Given the description of an element on the screen output the (x, y) to click on. 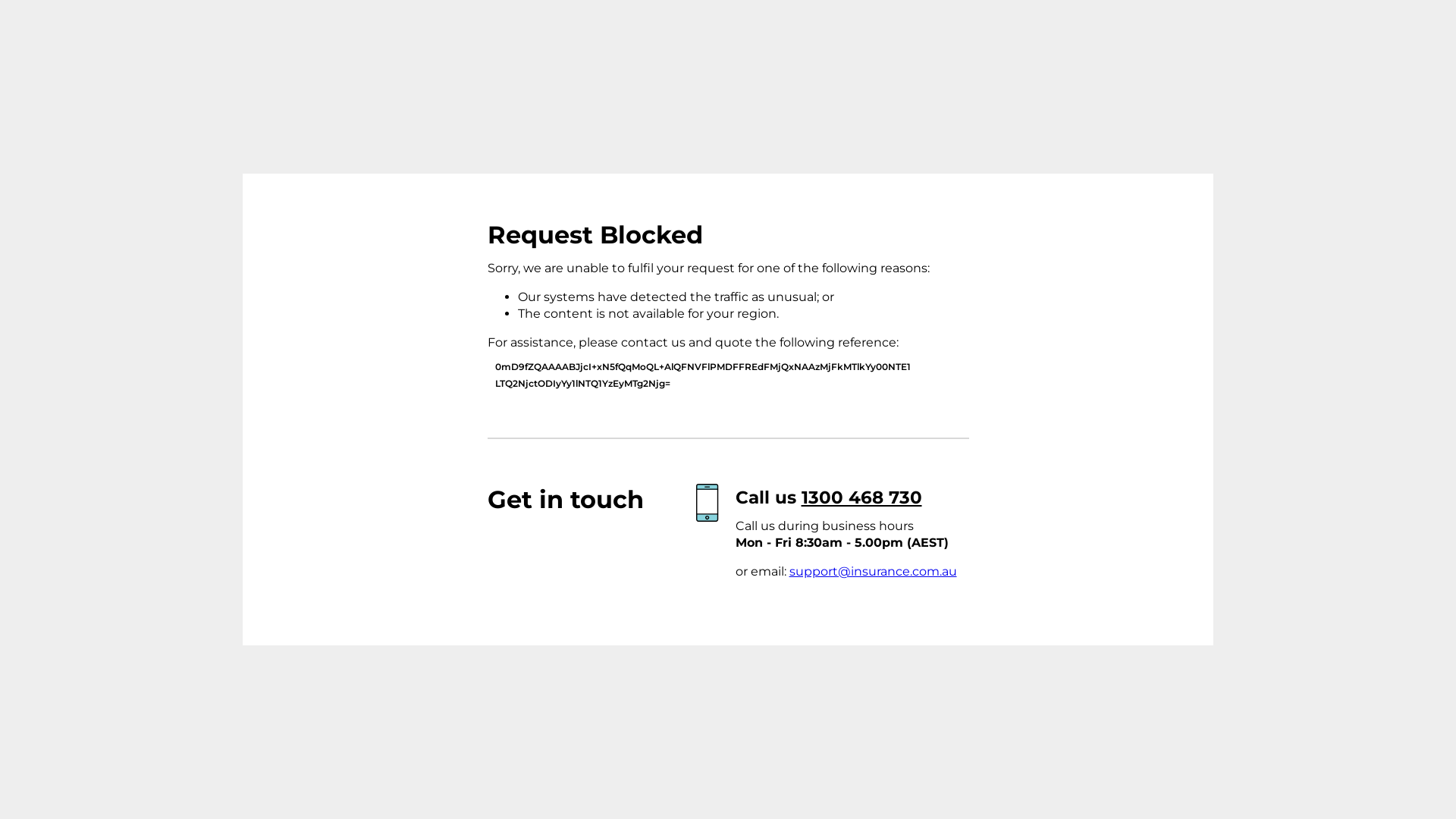
Insurance.com.au Element type: text (377, 264)
support@insurance.com.au Element type: text (872, 571)
1300 468 730 Element type: text (860, 497)
